Given the description of an element on the screen output the (x, y) to click on. 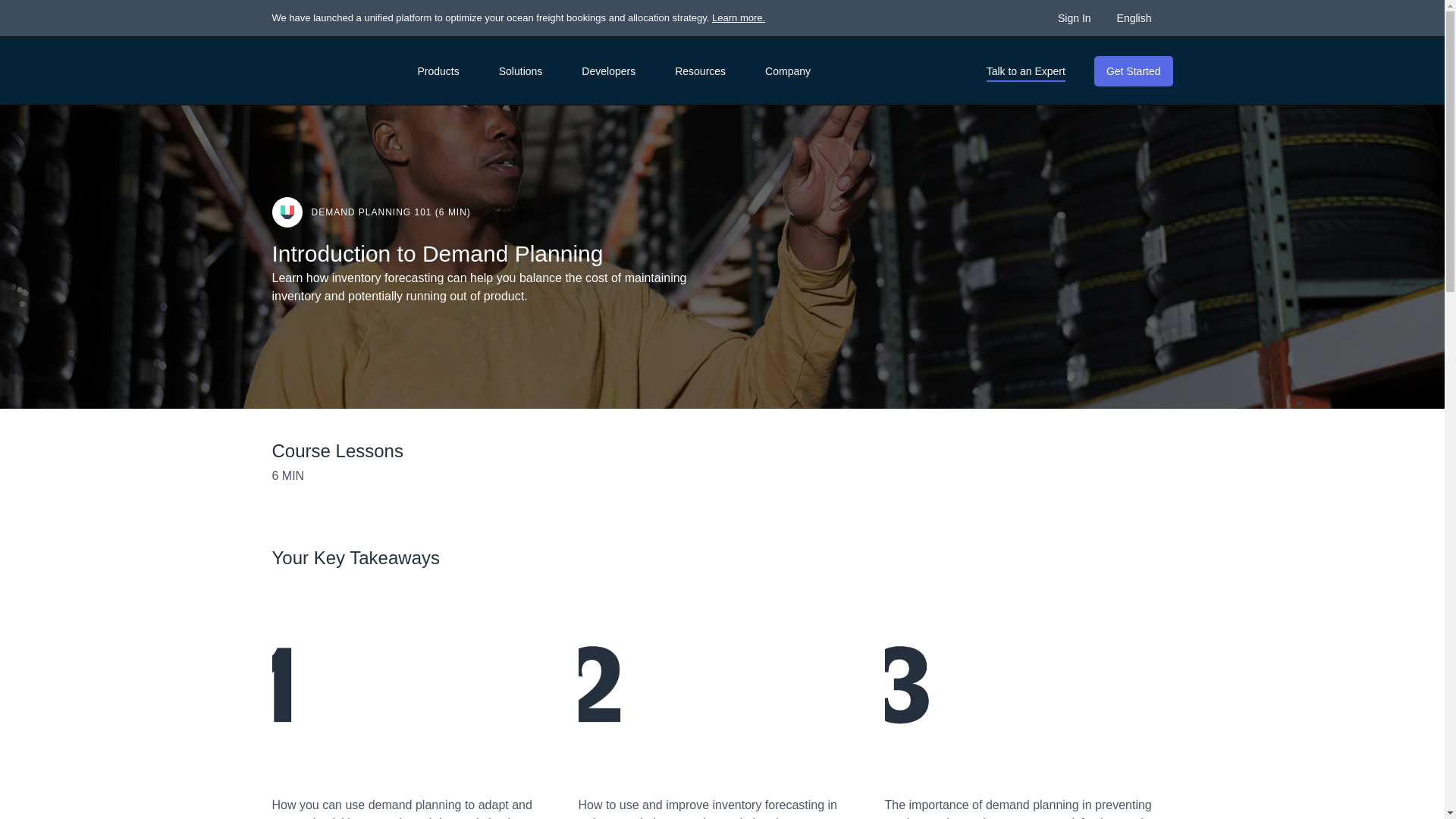
English (1142, 17)
Sign In (1075, 17)
Learn more. (738, 17)
